Given the description of an element on the screen output the (x, y) to click on. 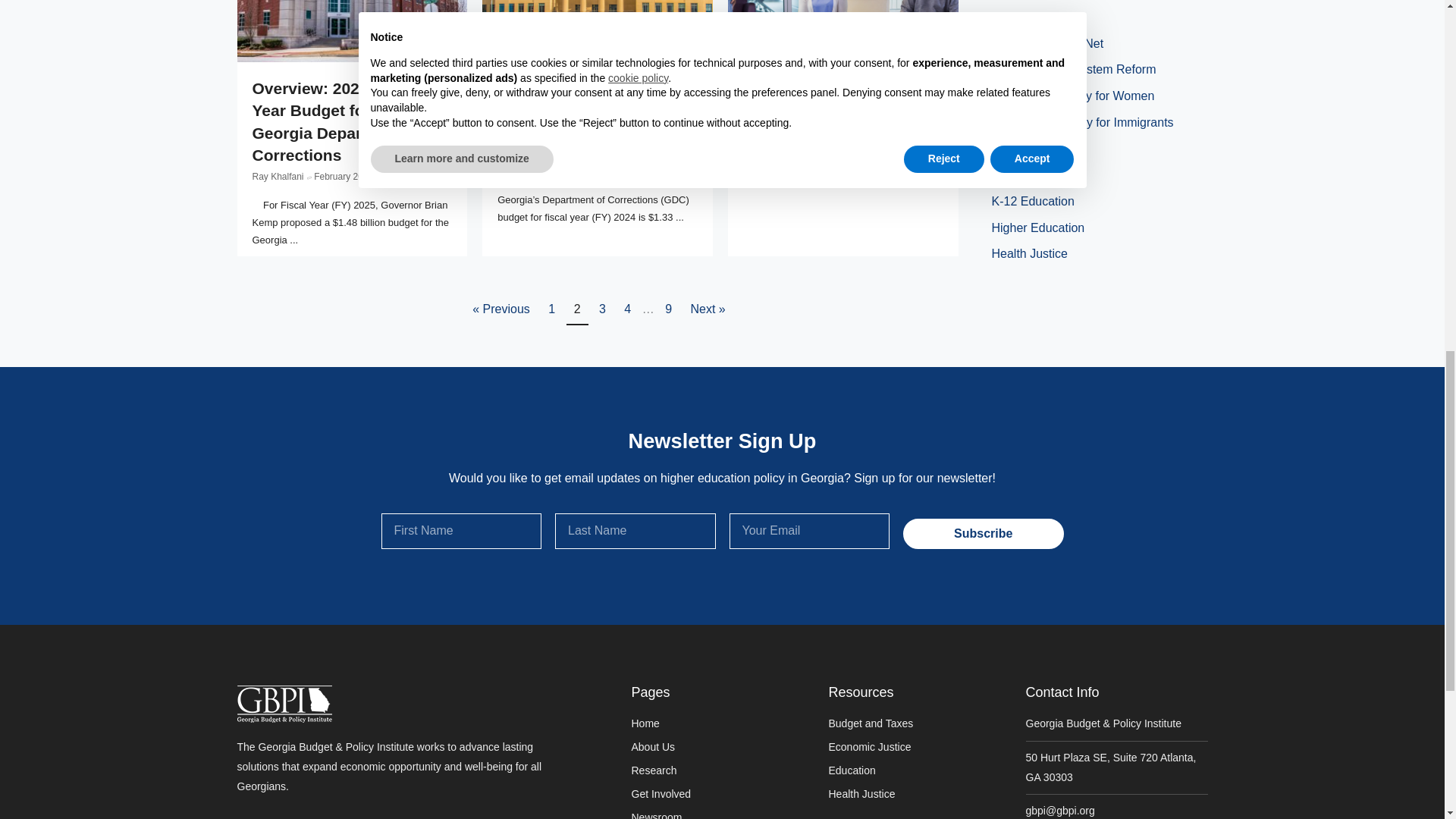
CLS (597, 30)
Posts by David Schaefer (773, 109)
sine die blog 2023 (843, 30)
Posts by Ray Khalfani (522, 154)
Posts by Ray Khalfani (276, 176)
